Given the description of an element on the screen output the (x, y) to click on. 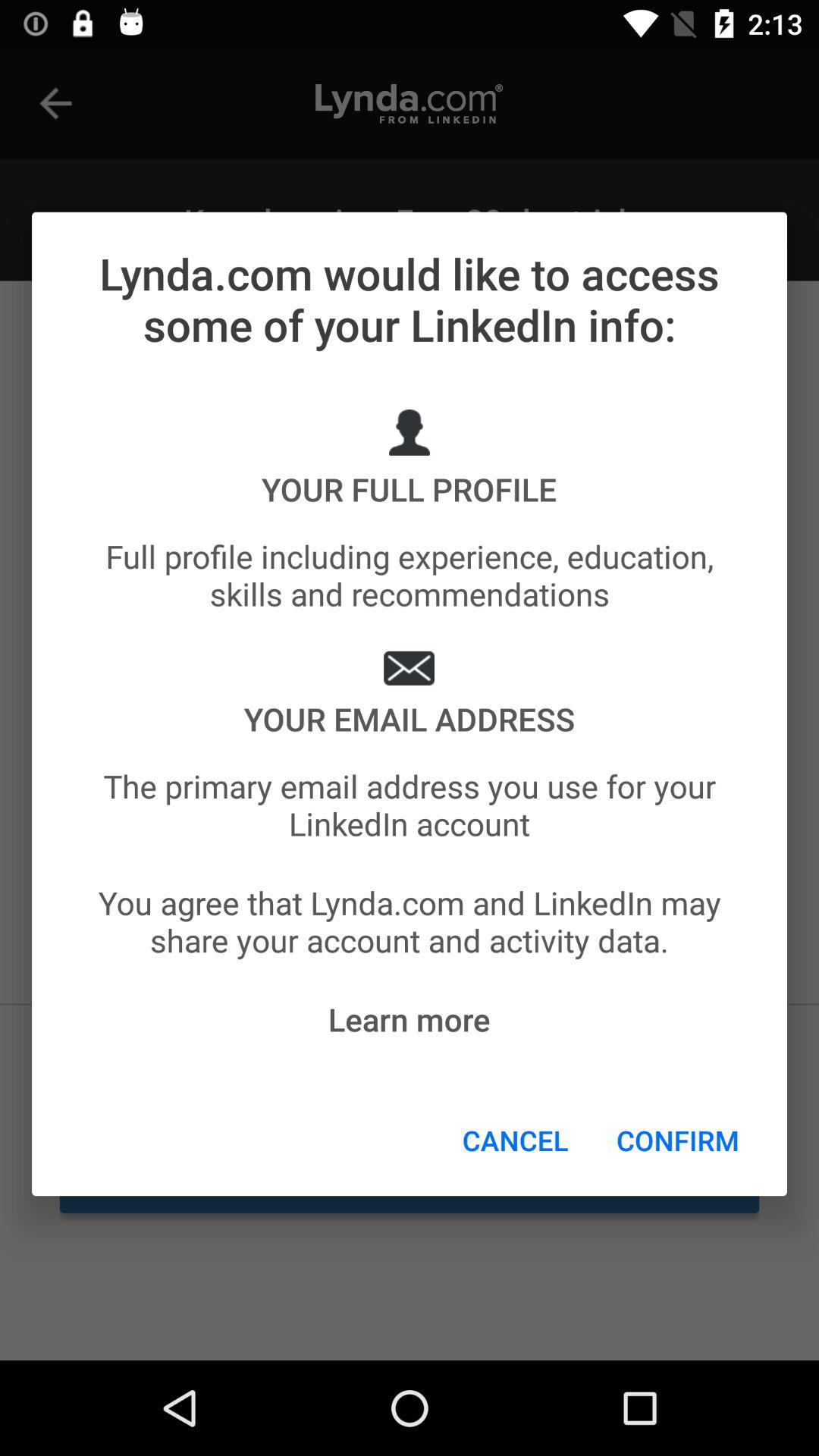
choose item above cancel icon (409, 1018)
